Given the description of an element on the screen output the (x, y) to click on. 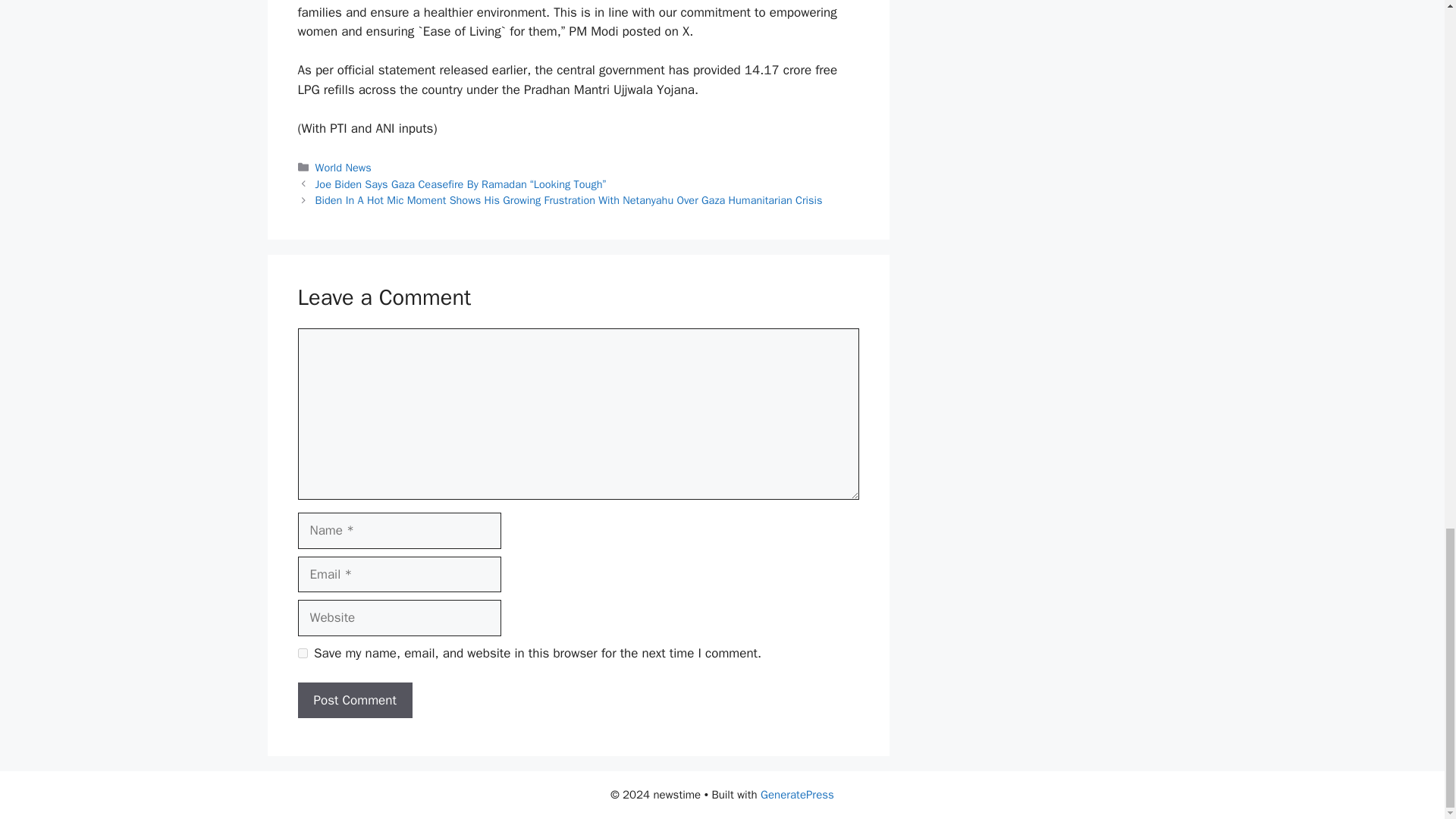
Post Comment (354, 700)
GeneratePress (797, 794)
World News (343, 167)
Post Comment (354, 700)
yes (302, 653)
